Given the description of an element on the screen output the (x, y) to click on. 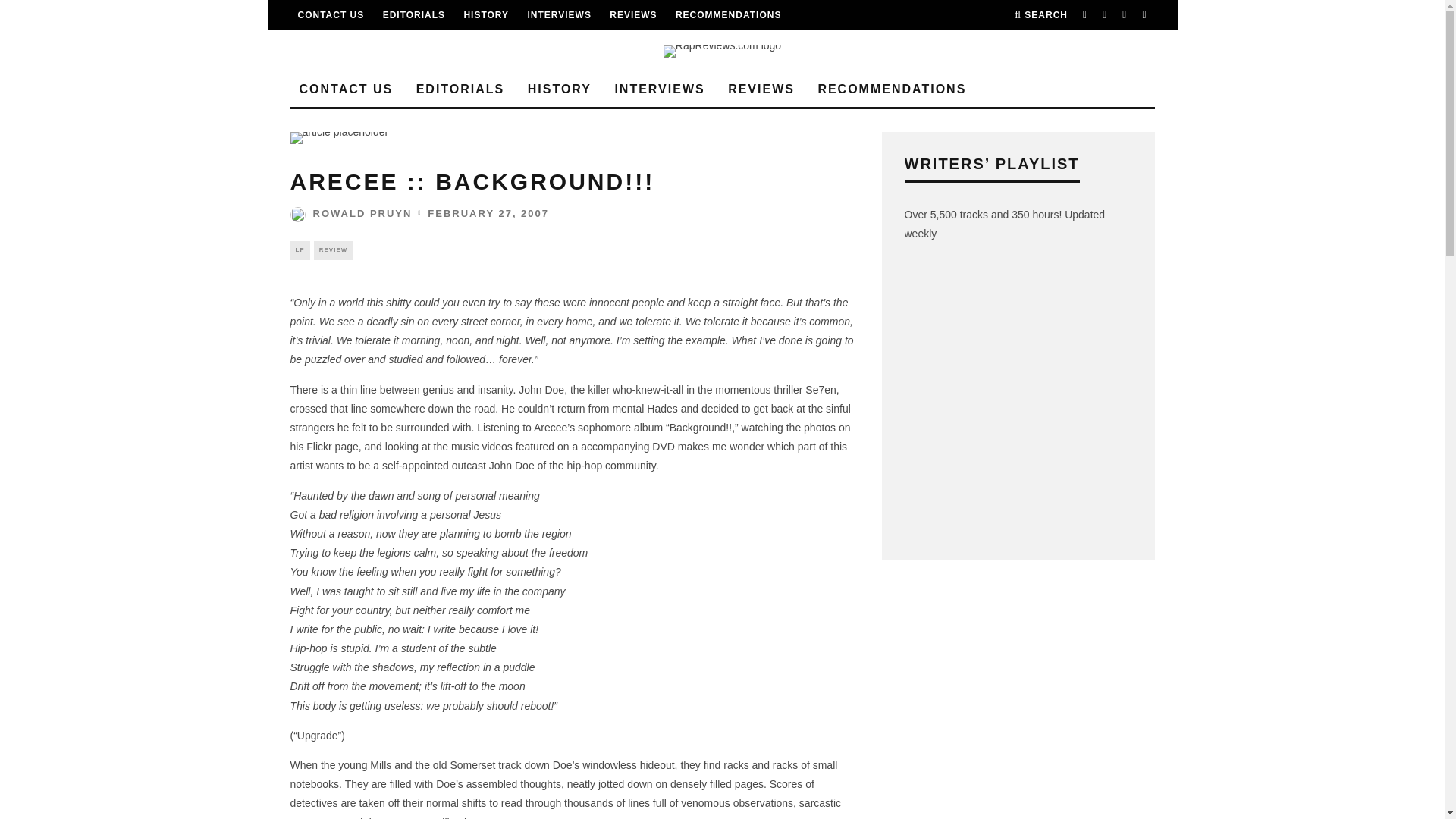
HISTORY (485, 15)
INTERVIEWS (559, 15)
SEARCH (1040, 15)
View all posts in Review (333, 249)
RECOMMENDATIONS (727, 15)
EDITORIALS (413, 15)
Search (1040, 15)
REVIEWS (633, 15)
CONTACT US (330, 15)
View all posts in LP (298, 249)
